Given the description of an element on the screen output the (x, y) to click on. 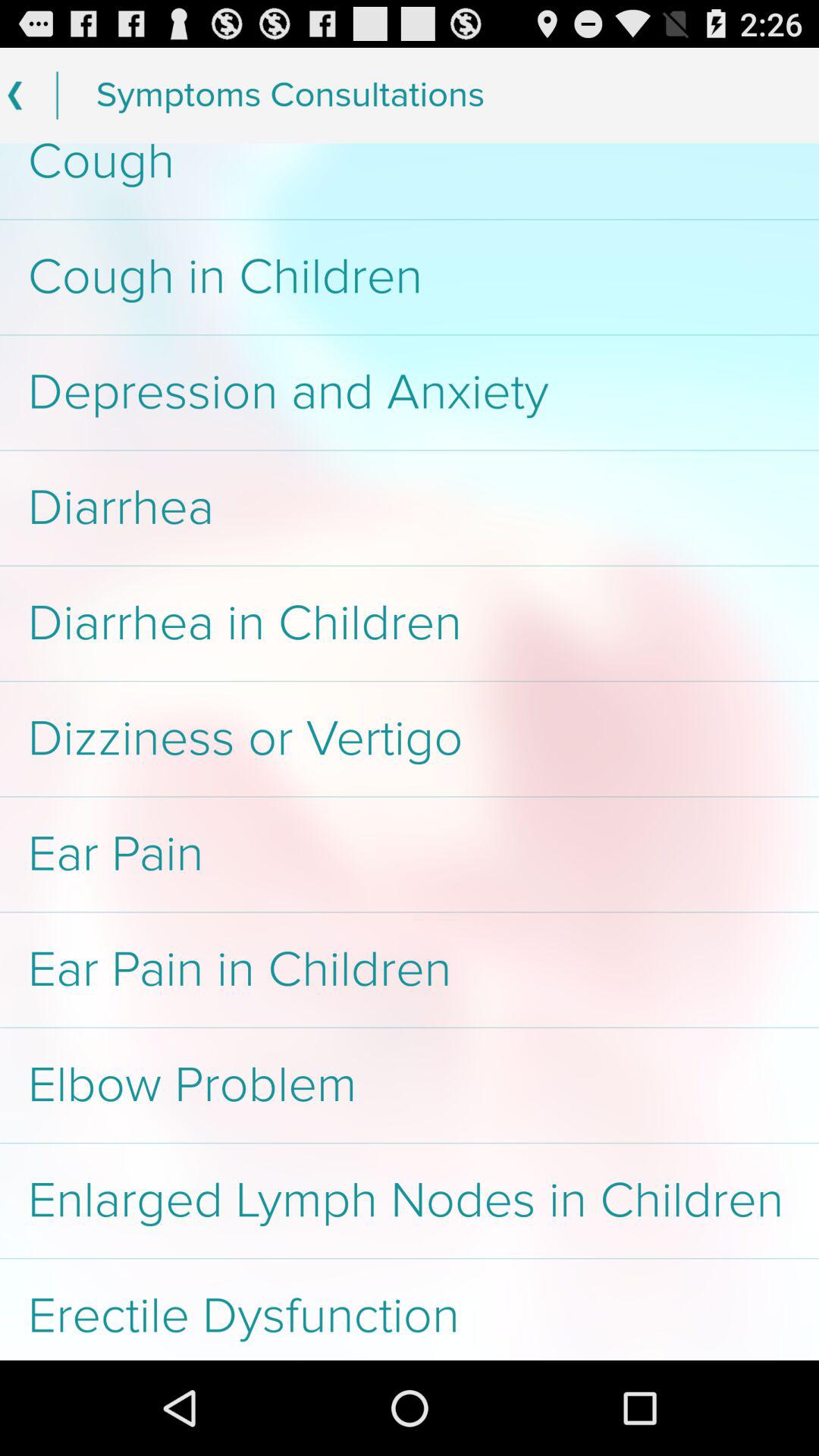
select the icon above ear pain item (409, 738)
